Given the description of an element on the screen output the (x, y) to click on. 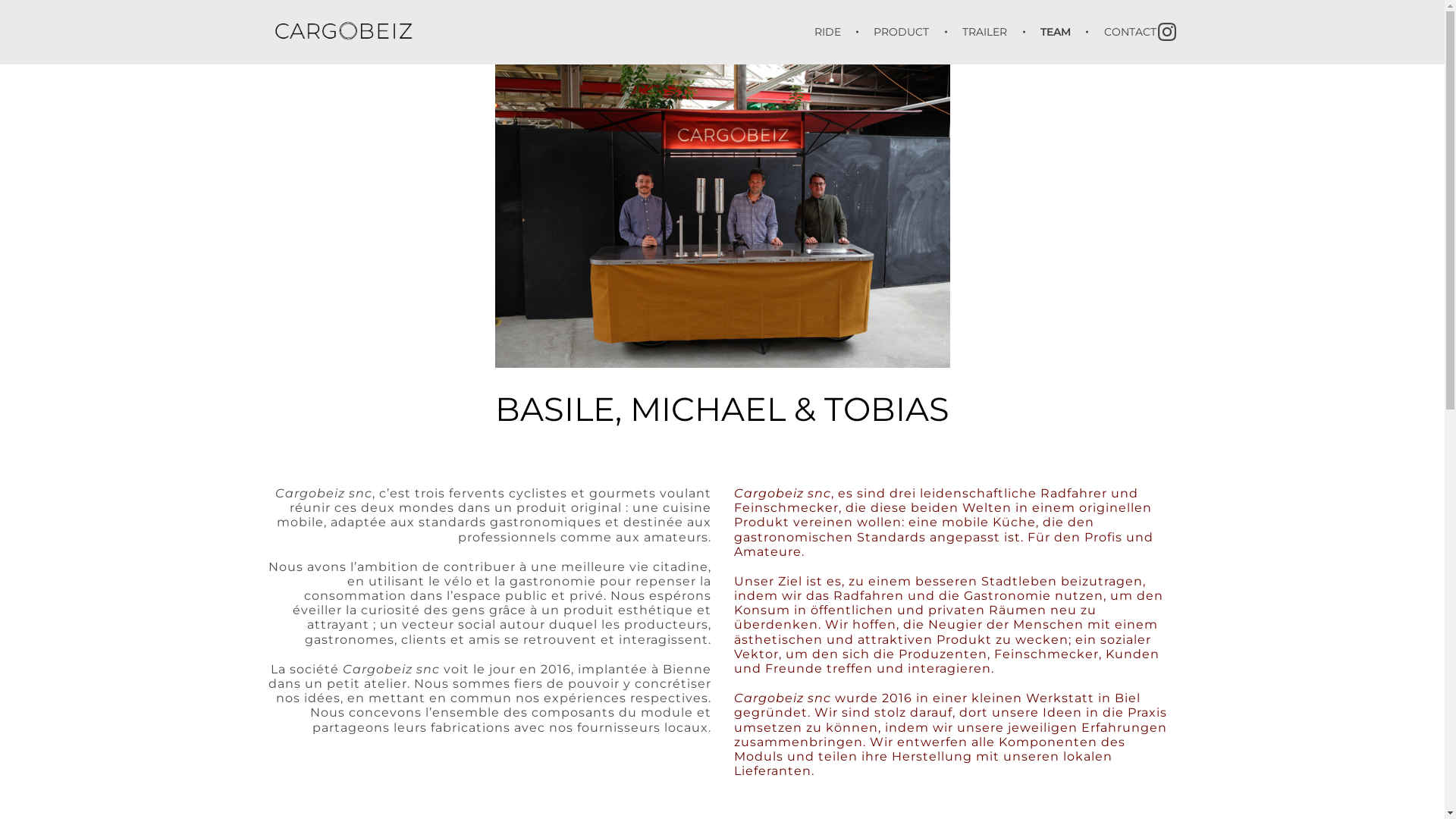
TRAILER Element type: text (987, 32)
TEAM Element type: text (1057, 32)
CONTACT Element type: text (1122, 32)
RIDE Element type: text (836, 32)
PRODUCT Element type: text (903, 32)
